Given the description of an element on the screen output the (x, y) to click on. 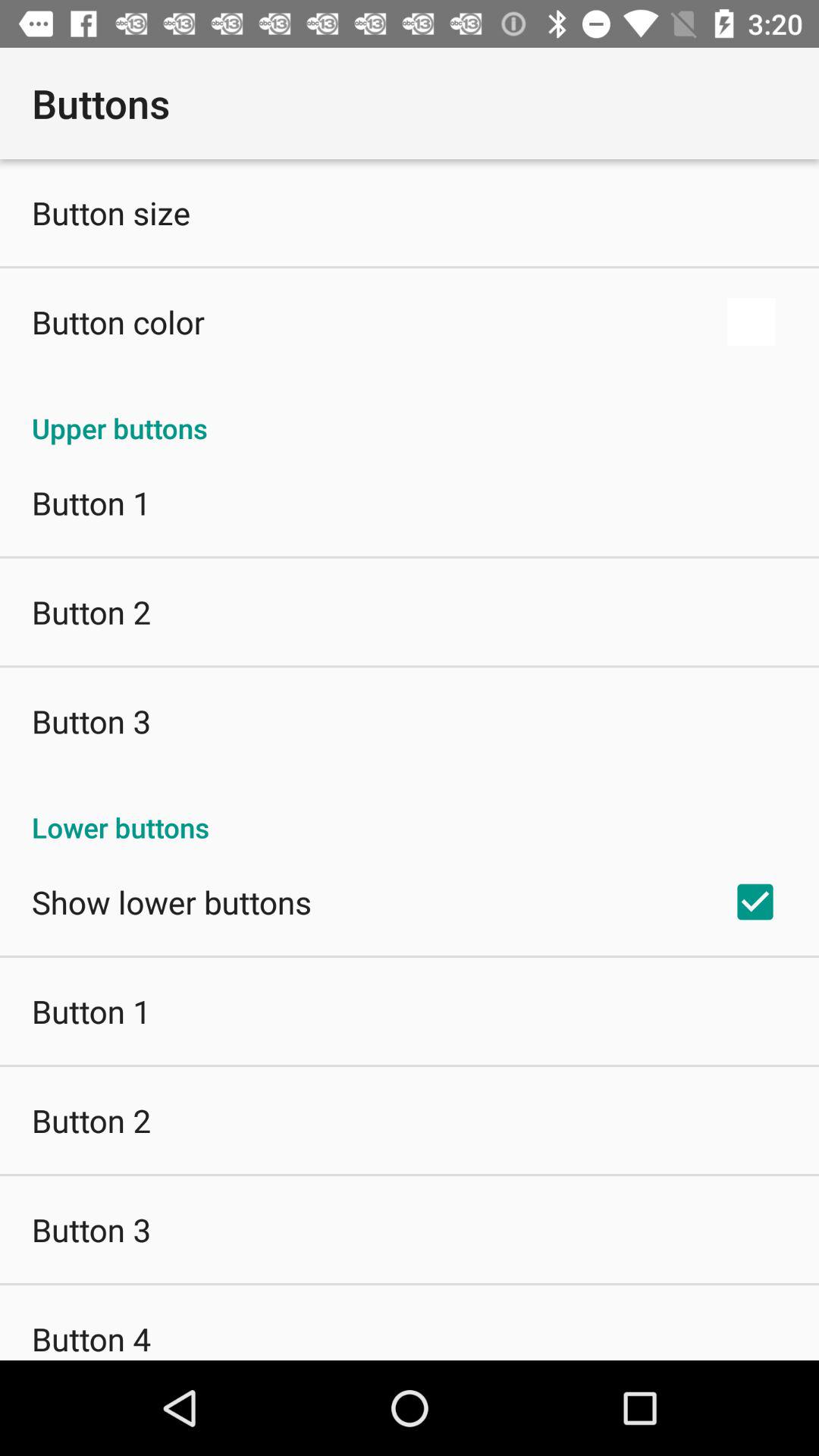
turn off icon to the right of the button color item (751, 321)
